Given the description of an element on the screen output the (x, y) to click on. 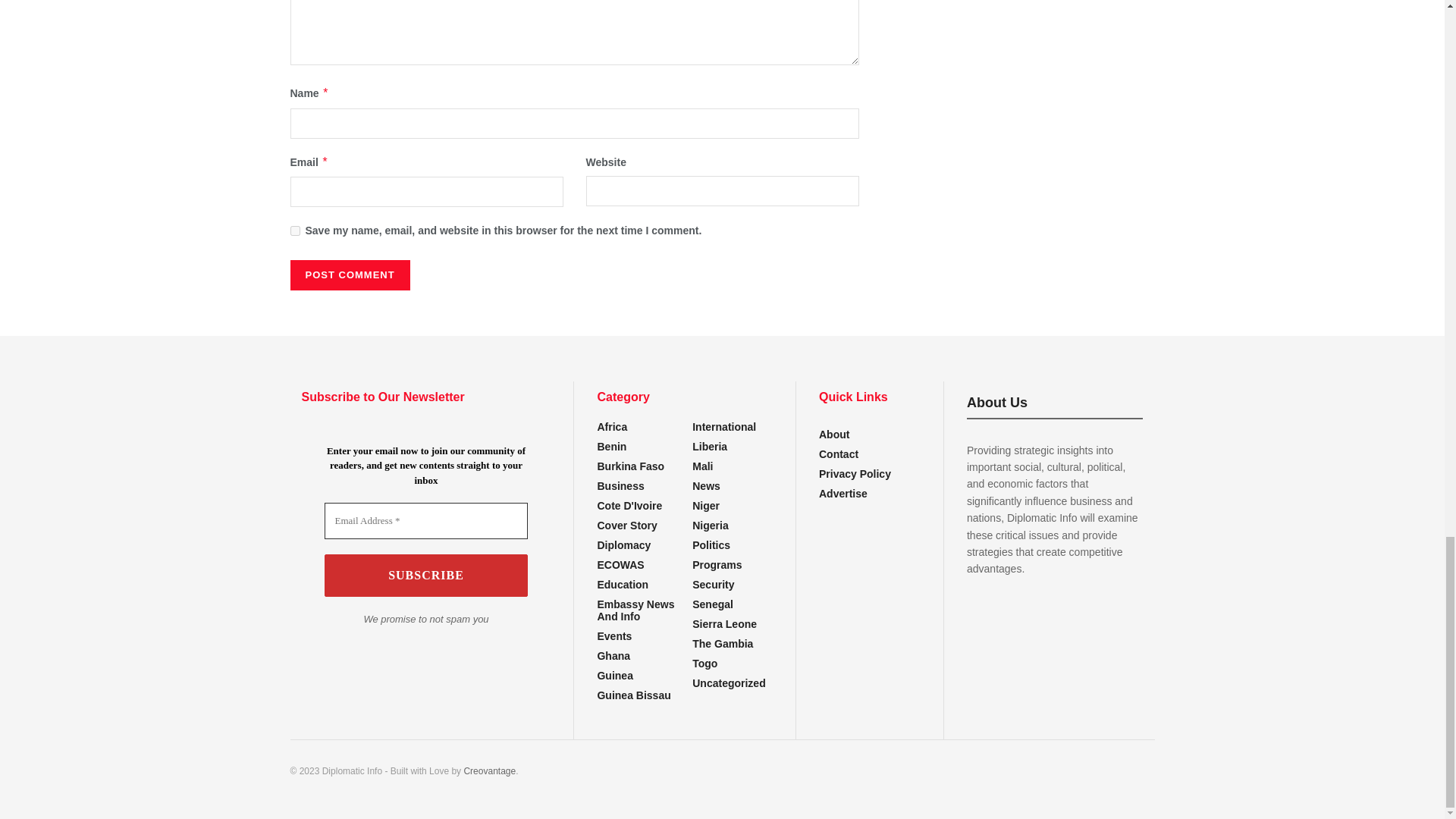
Post Comment (349, 275)
yes (294, 230)
Email Address (426, 520)
Subscribe (426, 575)
